Given the description of an element on the screen output the (x, y) to click on. 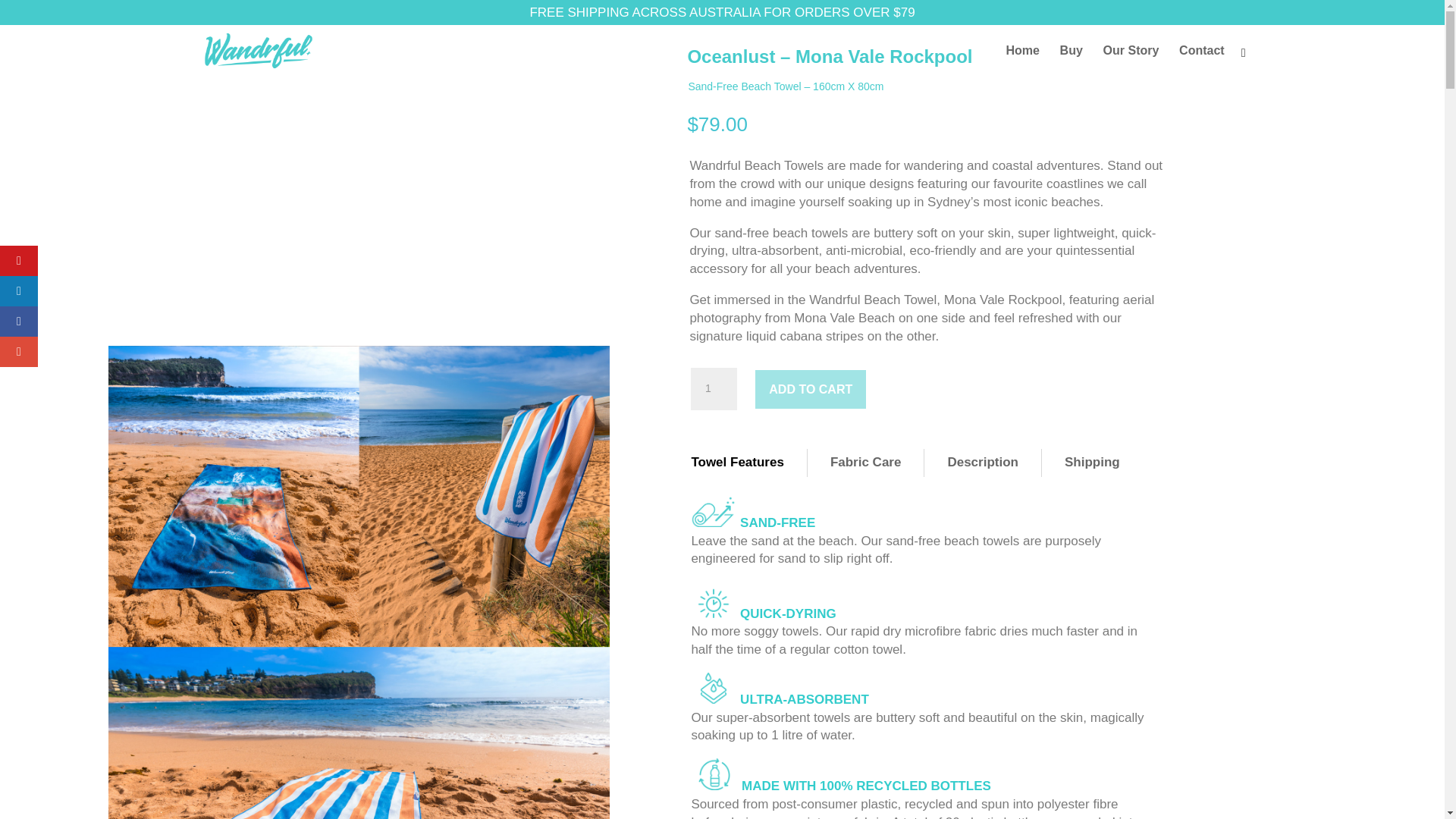
Our Story (1130, 73)
Shipping (1092, 462)
Towel Features (737, 462)
1 (713, 388)
Description (982, 462)
ADD TO CART (810, 389)
Fabric Care (866, 462)
